Given the description of an element on the screen output the (x, y) to click on. 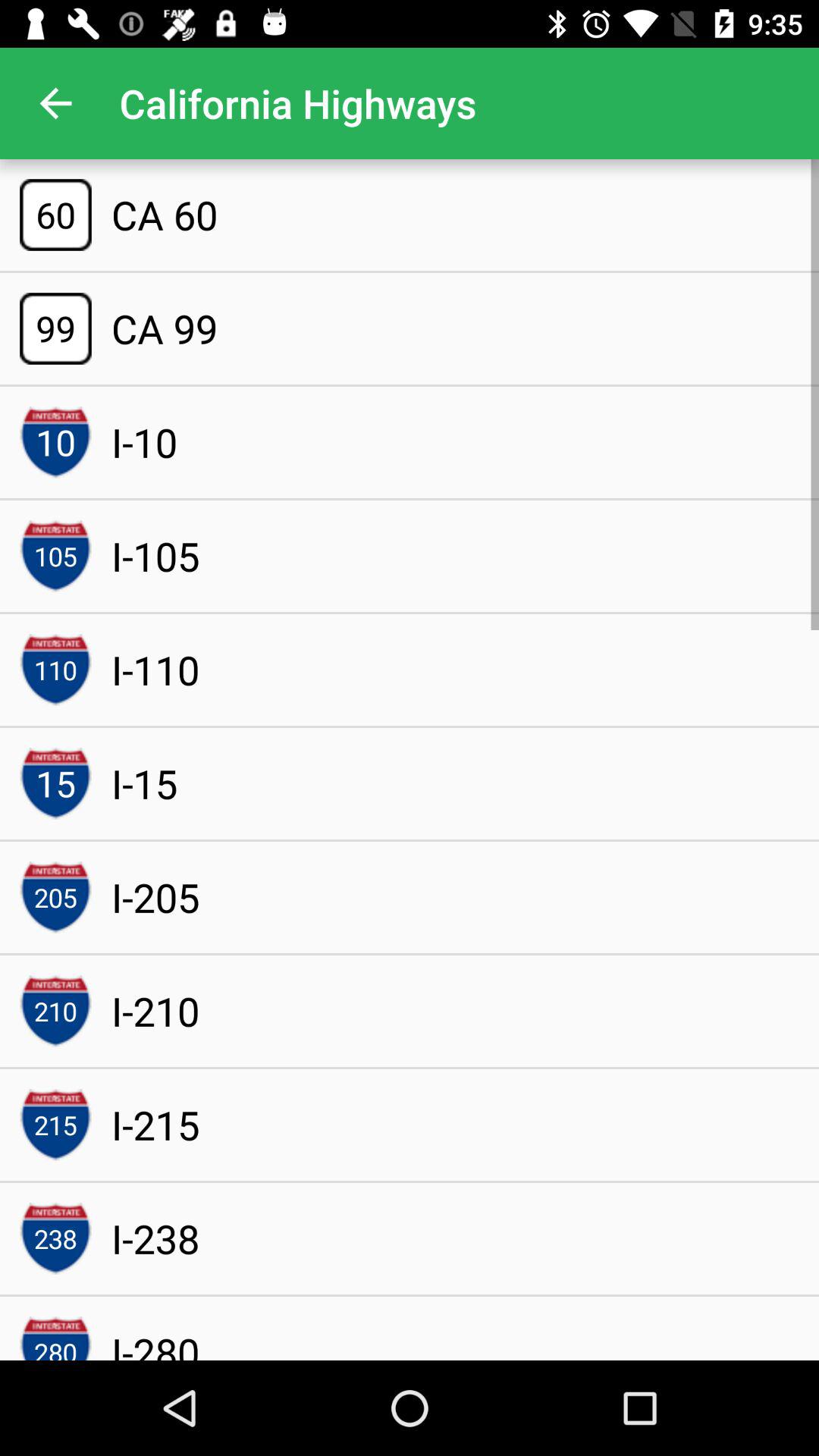
swipe to i-215 icon (155, 1124)
